Given the description of an element on the screen output the (x, y) to click on. 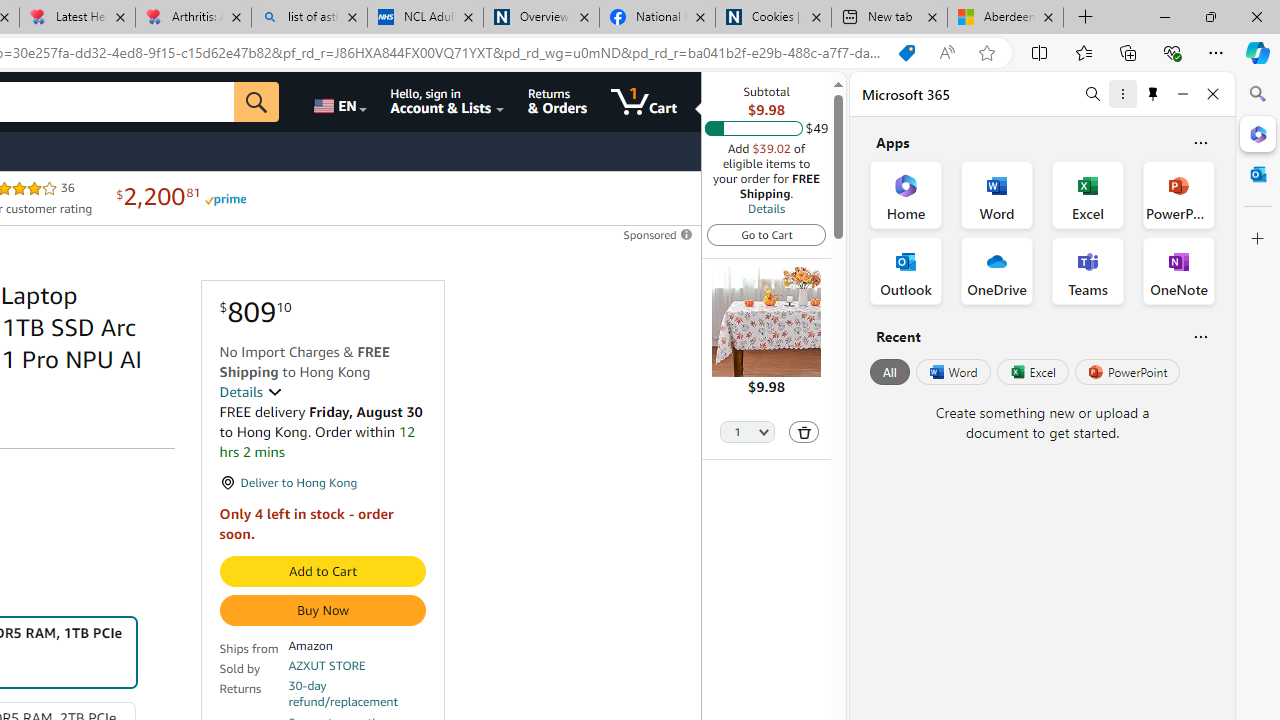
Details  (250, 391)
Go (257, 101)
PowerPoint (1127, 372)
Is this helpful? (1200, 336)
You have the best price! (906, 53)
Go to Cart (766, 234)
Delete (804, 431)
